Given the description of an element on the screen output the (x, y) to click on. 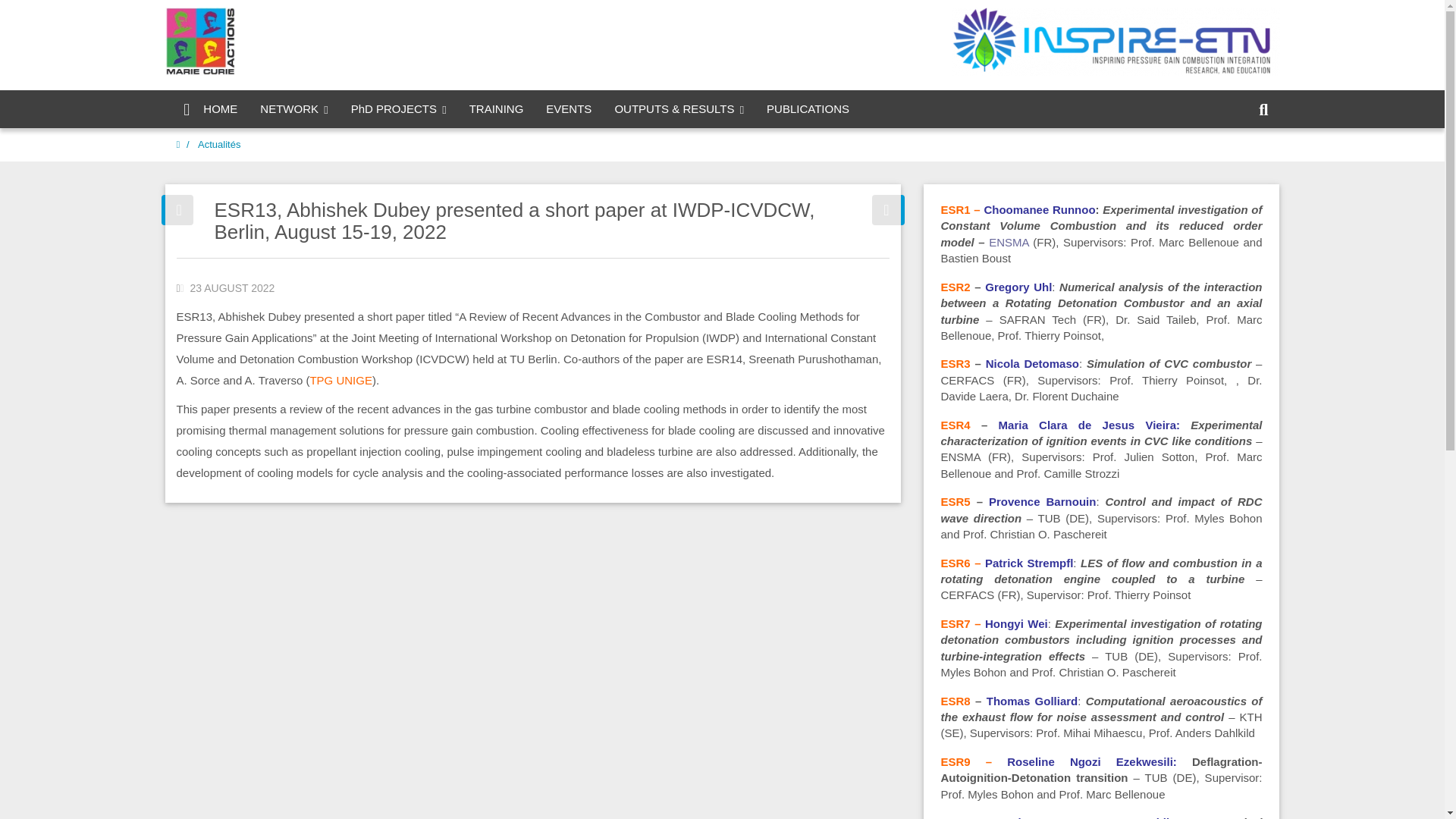
EVENTS (568, 108)
TRAINING (496, 108)
PhD PROJECTS (398, 108)
TPG UNIGE (340, 379)
NETWORK (293, 108)
PUBLICATIONS (807, 108)
  HOME (206, 108)
INSPIRE (1109, 41)
ENSMA (1008, 241)
